Given the description of an element on the screen output the (x, y) to click on. 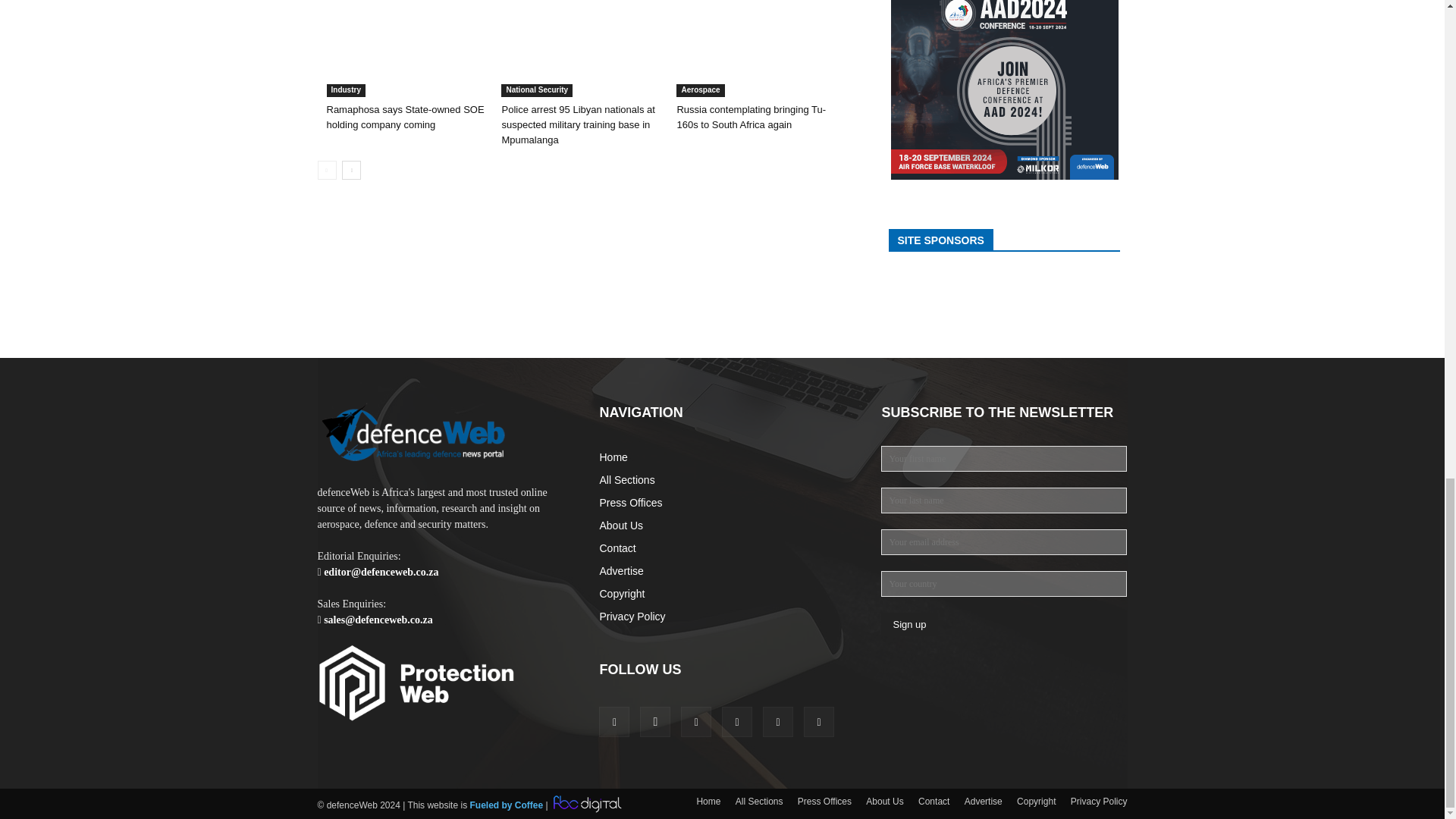
Sign up (908, 624)
